Given the description of an element on the screen output the (x, y) to click on. 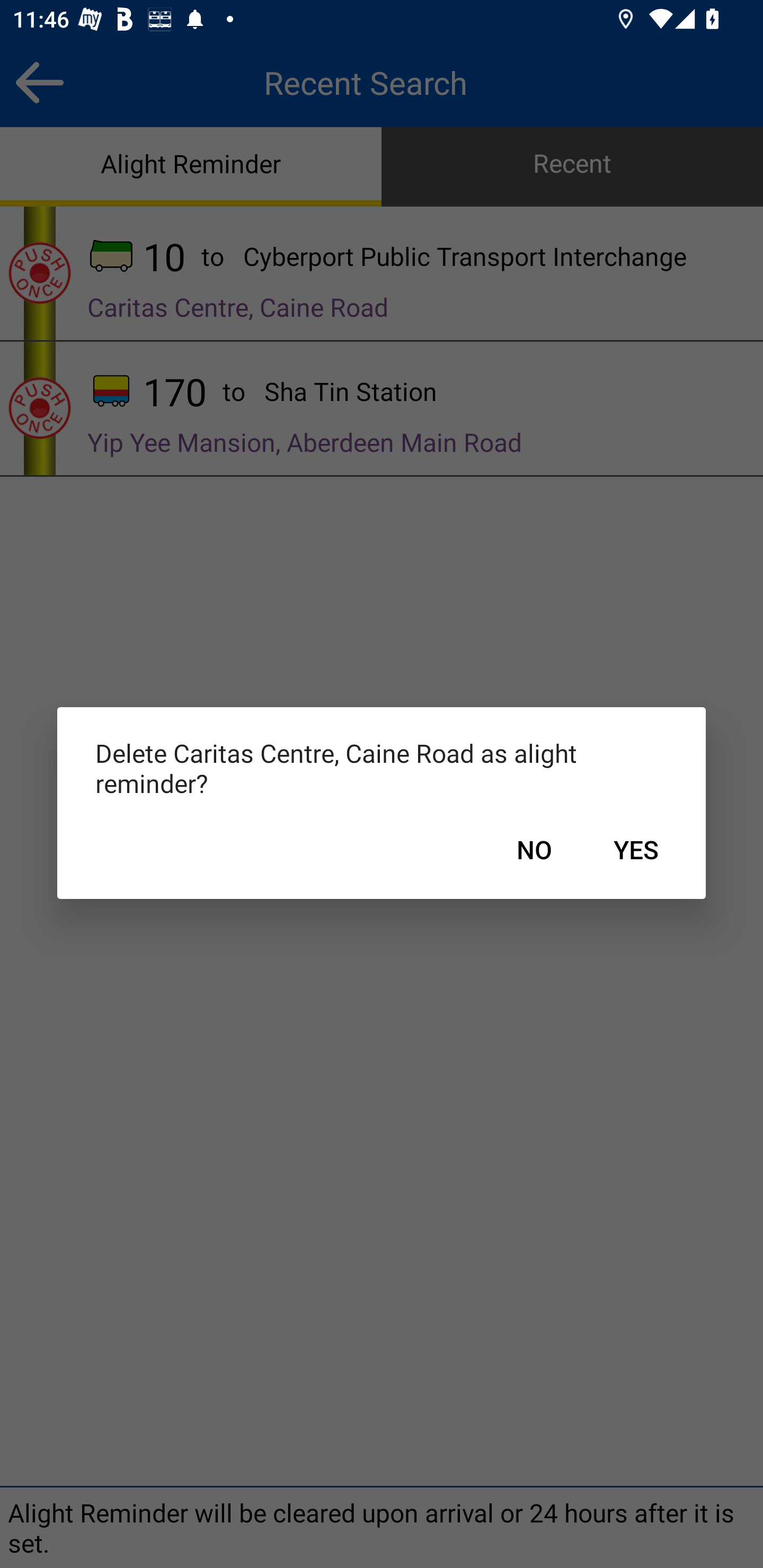
NO (533, 849)
YES (635, 849)
